Given the description of an element on the screen output the (x, y) to click on. 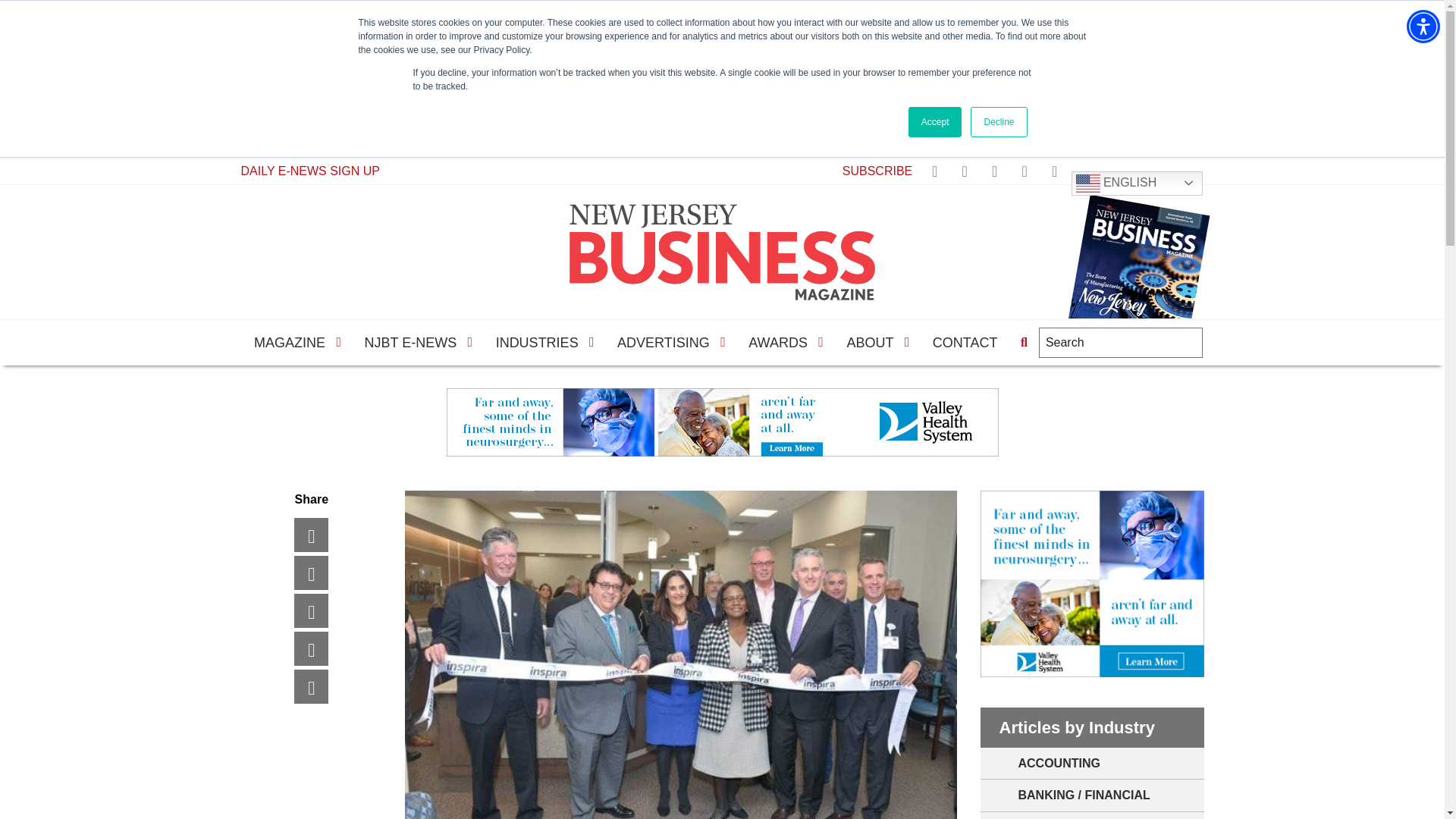
Decline (998, 122)
Search (1023, 342)
Twitter (325, 572)
Accept (935, 122)
Valley Health System (721, 422)
Facebook (325, 534)
Accessibility Menu (1422, 26)
